Given the description of an element on the screen output the (x, y) to click on. 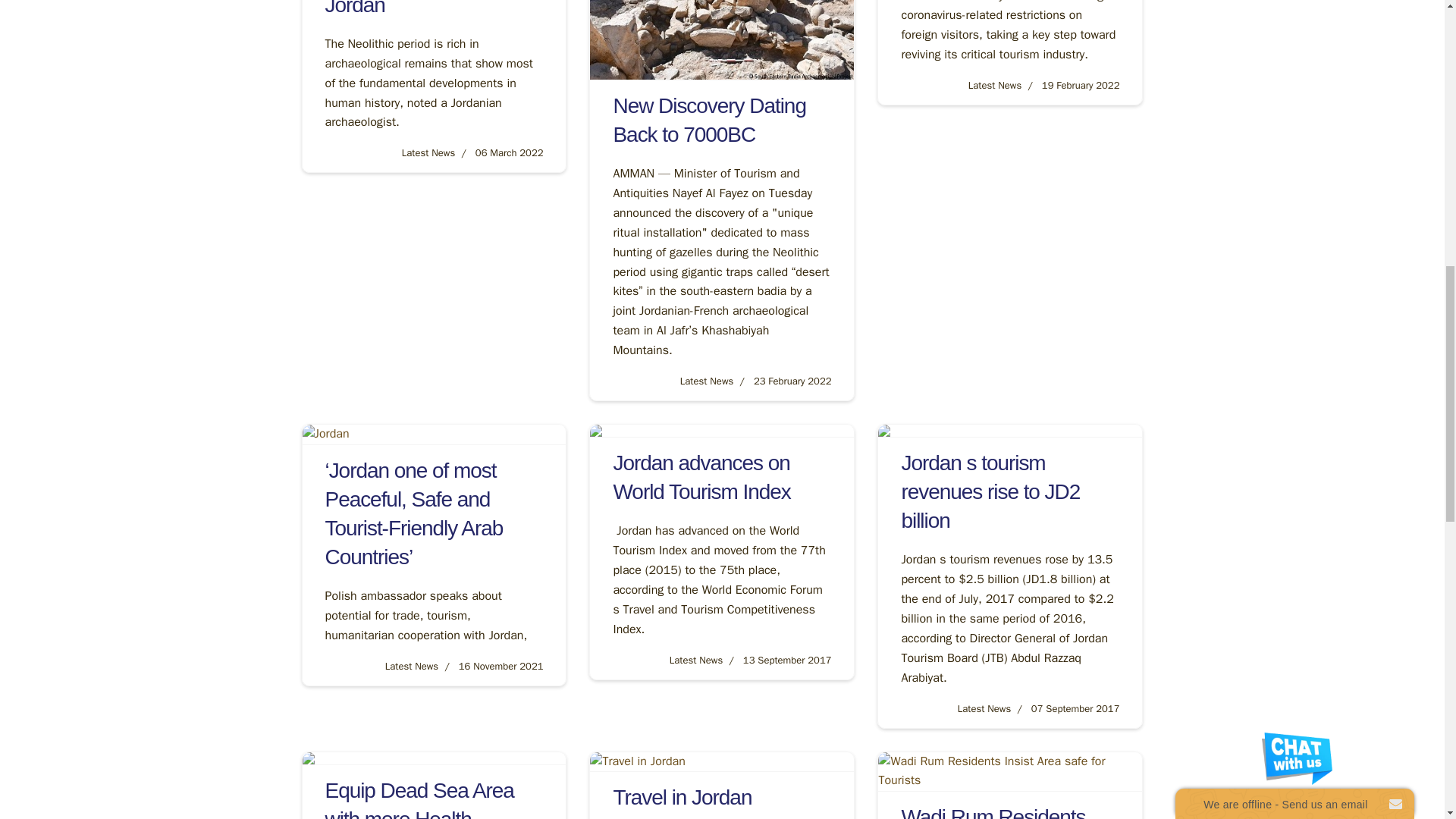
Published: 23 February 2022 (782, 381)
Latest News (427, 152)
Category: Latest News (706, 381)
New Discovery Dating Back to 7000BC (708, 120)
Published: 06 March 2022 (498, 152)
Category: Latest News (427, 152)
Settlement Patterns of Neolithic Period in Jordan (420, 8)
Category: Latest News (995, 84)
Latest News (995, 84)
Latest News (706, 380)
